Given the description of an element on the screen output the (x, y) to click on. 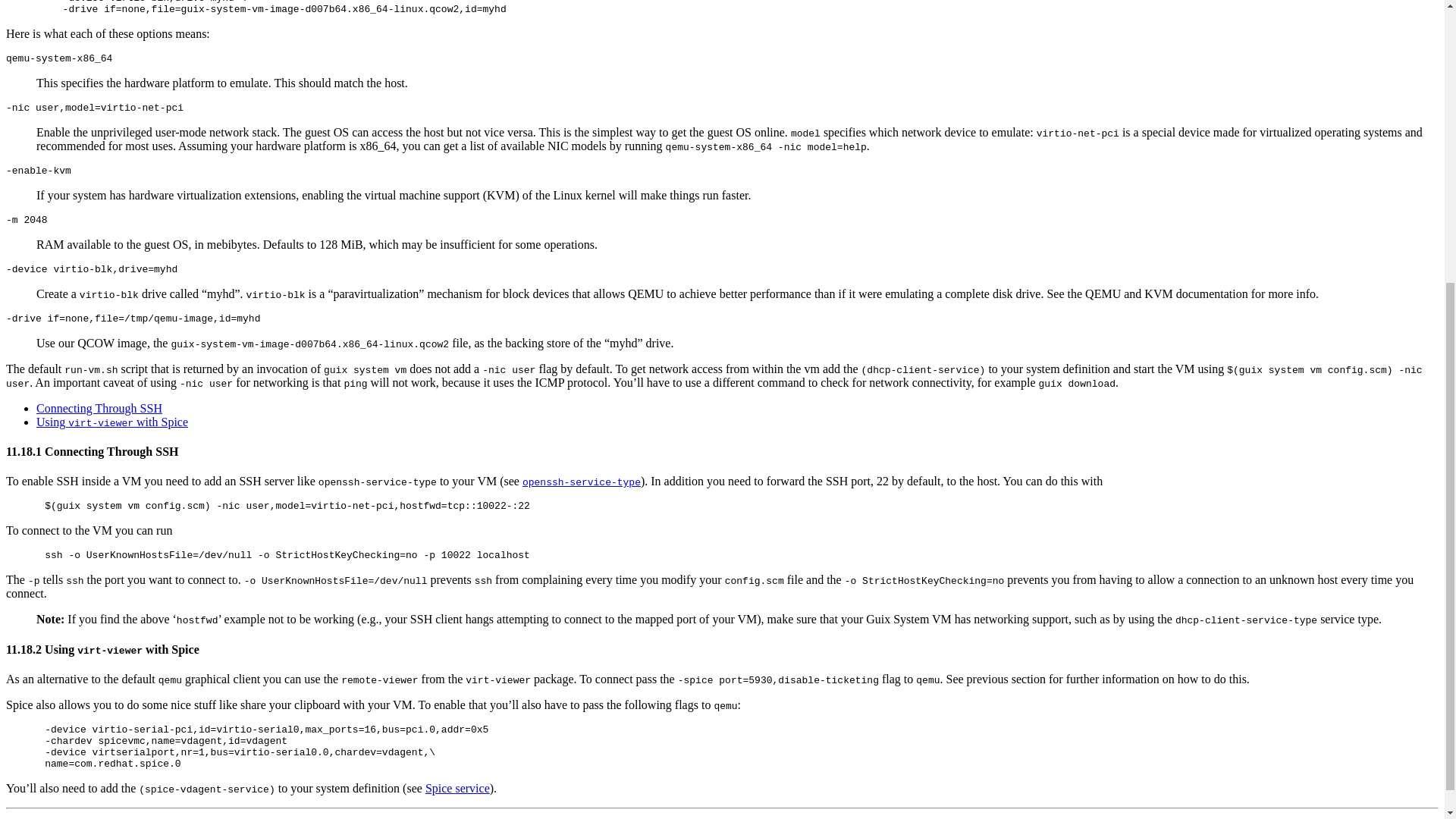
openssh-service-type (581, 481)
Connecting Through SSH (98, 408)
Using virt-viewer with Spice (111, 421)
Spice service (457, 788)
